Given the description of an element on the screen output the (x, y) to click on. 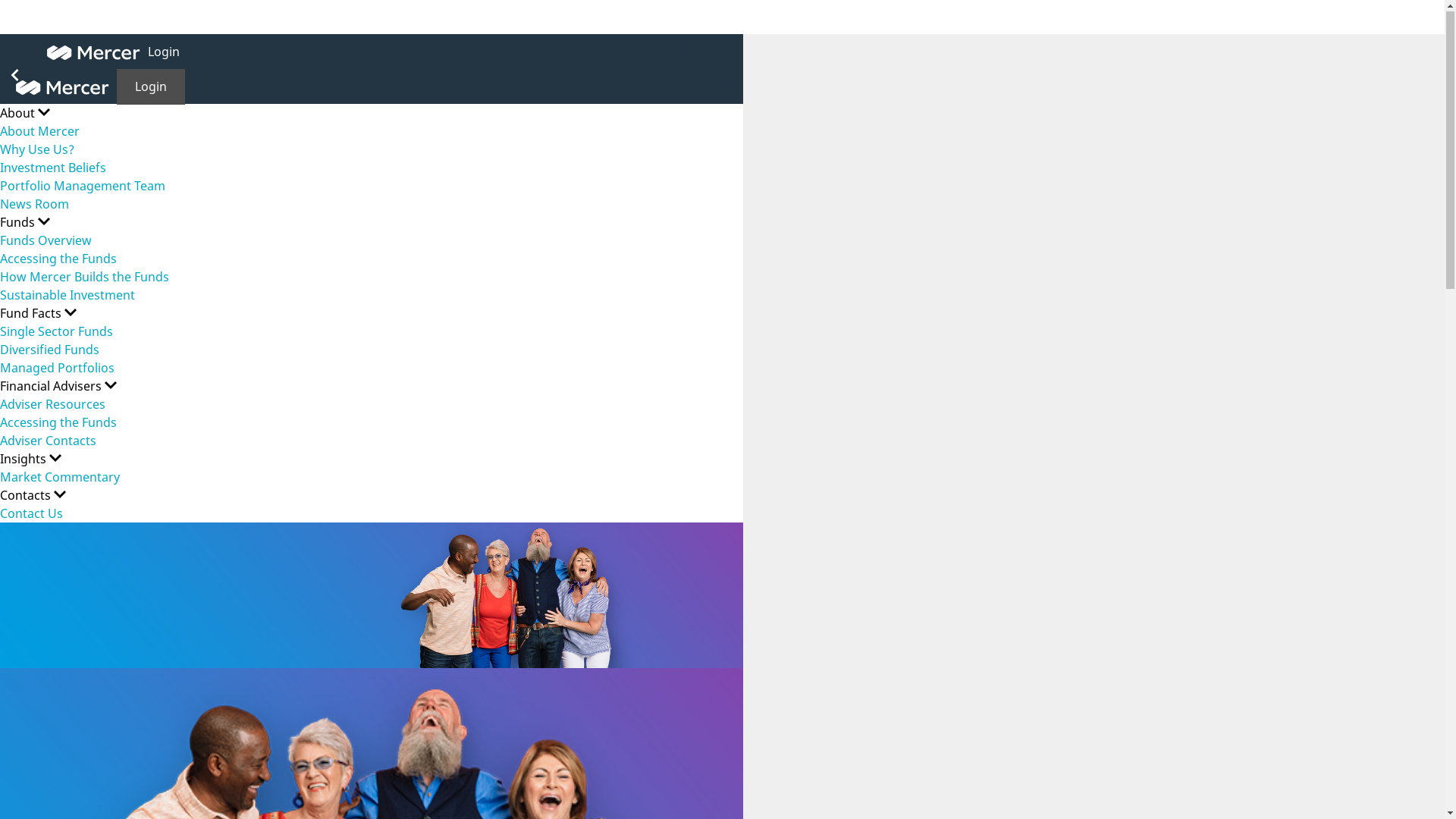
About Mercer Element type: text (39, 131)
Managed Portfolios Element type: text (57, 368)
Login Element type: text (150, 87)
Investment Beliefs Element type: text (53, 168)
Adviser Resources Element type: text (52, 404)
Market Commentary Element type: text (59, 477)
Accessing Mercer Multi-Manager Funds Element type: hover (371, 595)
Why Use Us? Element type: text (37, 149)
Login Element type: text (163, 51)
Portfolio Management Team Element type: text (82, 186)
Sustainable Investment Element type: text (67, 295)
Contact Us Element type: text (31, 513)
Diversified Funds Element type: text (49, 350)
How Mercer Builds the Funds Element type: text (84, 277)
Adviser Contacts Element type: text (48, 441)
Accessing the Funds Element type: text (58, 259)
Mercer Multimanager Funds Element type: hover (62, 88)
News Room Element type: text (34, 204)
Single Sector Funds Element type: text (56, 331)
Mercer Multimanager Funds Element type: hover (93, 53)
Funds Overview Element type: text (45, 240)
Accessing the Funds Element type: text (58, 422)
